Given the description of an element on the screen output the (x, y) to click on. 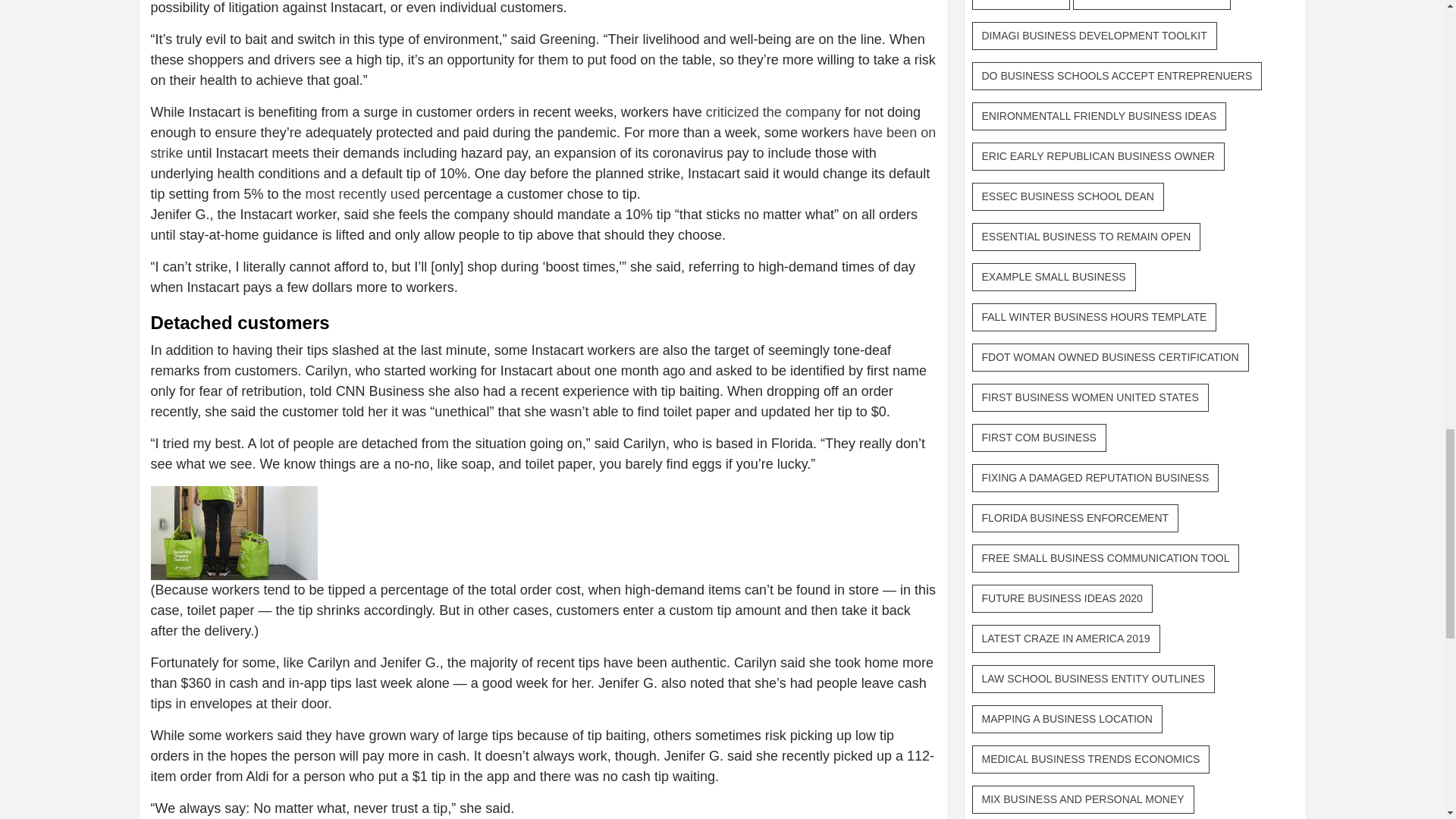
criticized the company (775, 111)
most recently used (362, 193)
have been on strike (542, 142)
